Given the description of an element on the screen output the (x, y) to click on. 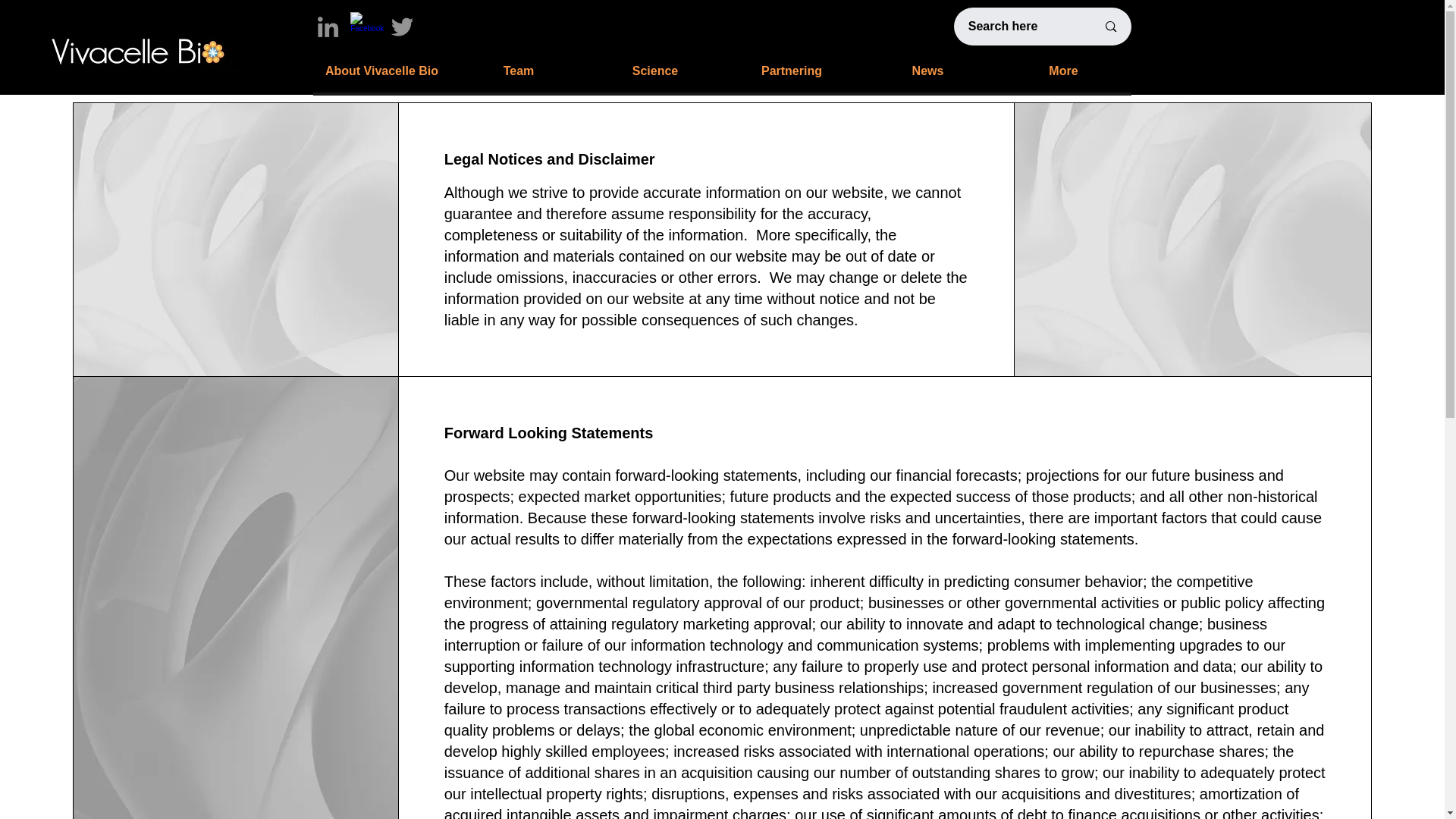
News (926, 70)
About Vivacelle Bio (381, 70)
Team (517, 70)
Science (654, 70)
Partnering (790, 70)
